Given the description of an element on the screen output the (x, y) to click on. 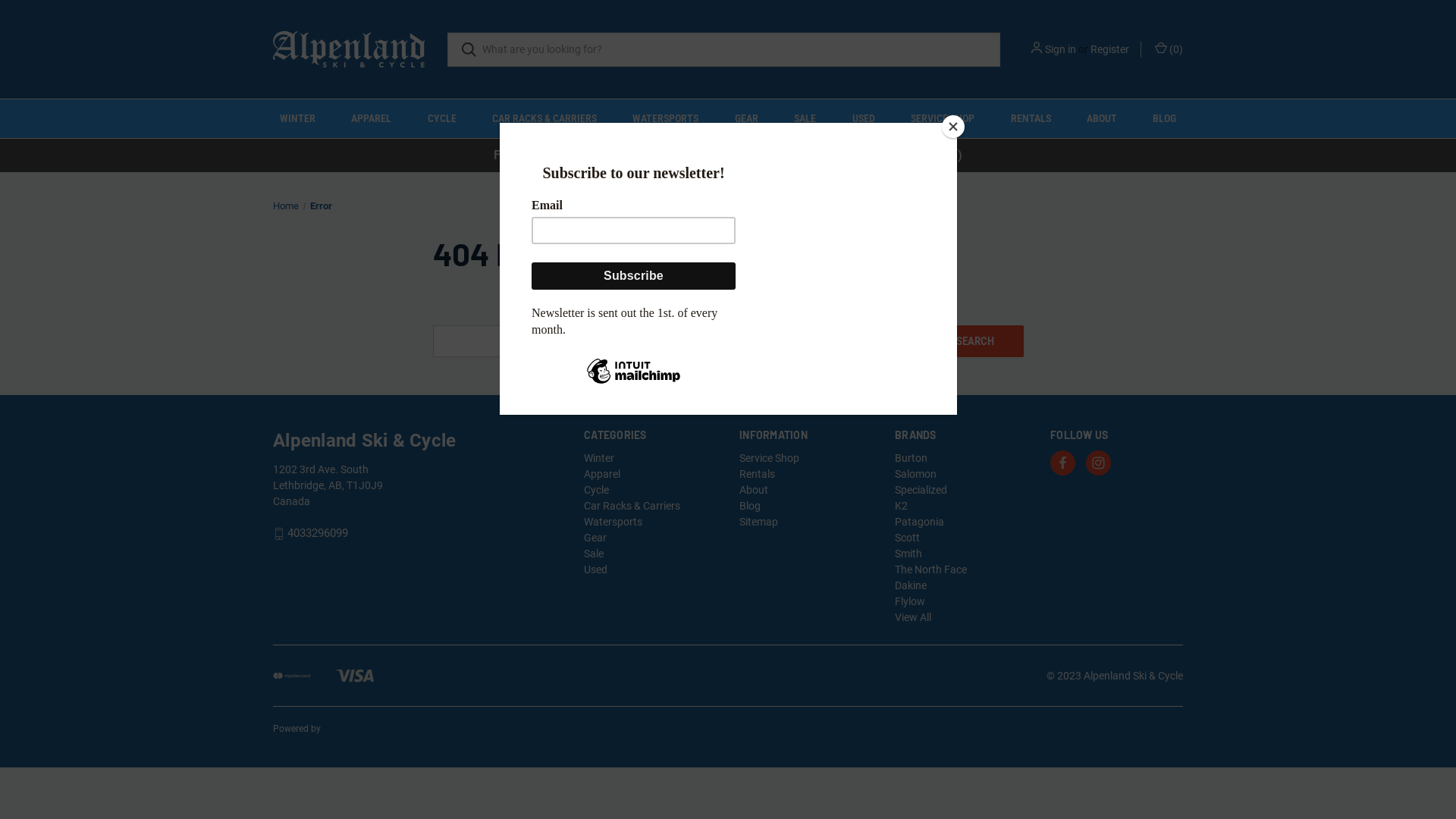
Apparel Element type: text (601, 473)
Sign in Element type: text (1060, 48)
CAR RACKS & CARRIERS Element type: text (543, 118)
Smith Element type: text (908, 553)
Error Element type: text (320, 205)
(0) Element type: text (1167, 48)
Blog Element type: text (749, 505)
GEAR Element type: text (745, 118)
4033296099 Element type: text (317, 533)
RENTALS Element type: text (1030, 118)
SERVICE SHOP Element type: text (941, 118)
Service Shop Element type: text (769, 457)
Burton Element type: text (910, 457)
K2 Element type: text (900, 505)
APPAREL Element type: text (370, 118)
WINTER Element type: text (296, 118)
Sitemap Element type: text (758, 521)
Register Element type: text (1109, 48)
Used Element type: text (595, 569)
Specialized Element type: text (920, 489)
Cycle Element type: text (595, 489)
WATERSPORTS Element type: text (665, 118)
BLOG Element type: text (1164, 118)
Patagonia Element type: text (919, 521)
View All Element type: text (912, 617)
Flylow Element type: text (909, 601)
Car Racks & Carriers Element type: text (631, 505)
ABOUT Element type: text (1101, 118)
Sale Element type: text (593, 553)
Winter Element type: text (598, 457)
Search Element type: text (974, 340)
CYCLE Element type: text (441, 118)
Alpenland Ski & Cycle Element type: hover (348, 49)
USED Element type: text (863, 118)
Salomon Element type: text (915, 473)
Home Element type: text (285, 205)
BigCommerce Element type: text (351, 728)
Scott Element type: text (906, 537)
About Element type: text (753, 489)
Gear Element type: text (594, 537)
Dakine Element type: text (910, 585)
SALE Element type: text (805, 118)
Watersports Element type: text (612, 521)
The North Face Element type: text (930, 569)
Rentals Element type: text (757, 473)
